Given the description of an element on the screen output the (x, y) to click on. 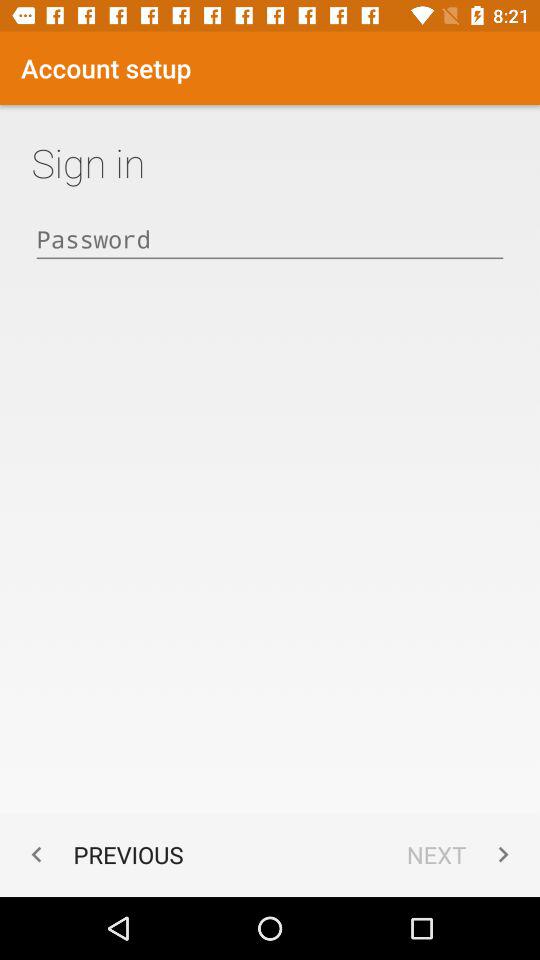
swipe to previous (102, 854)
